Given the description of an element on the screen output the (x, y) to click on. 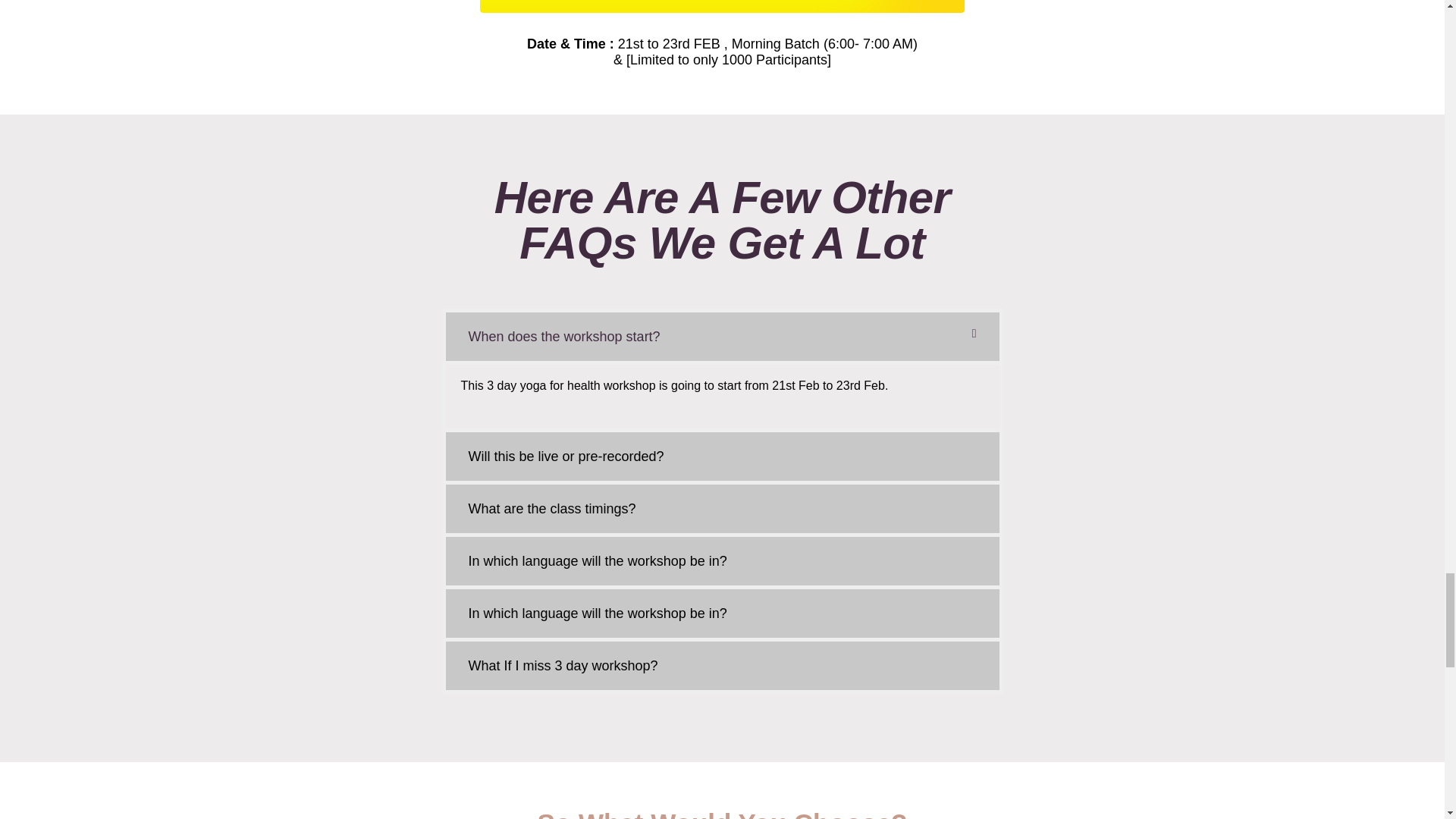
What are the class timings? (552, 508)
In which language will the workshop be in? (597, 560)
What If I miss 3 day workshop? (563, 665)
In which language will the workshop be in? (597, 613)
Will this be live or pre-recorded? (565, 456)
When does the workshop start? (564, 336)
